Given the description of an element on the screen output the (x, y) to click on. 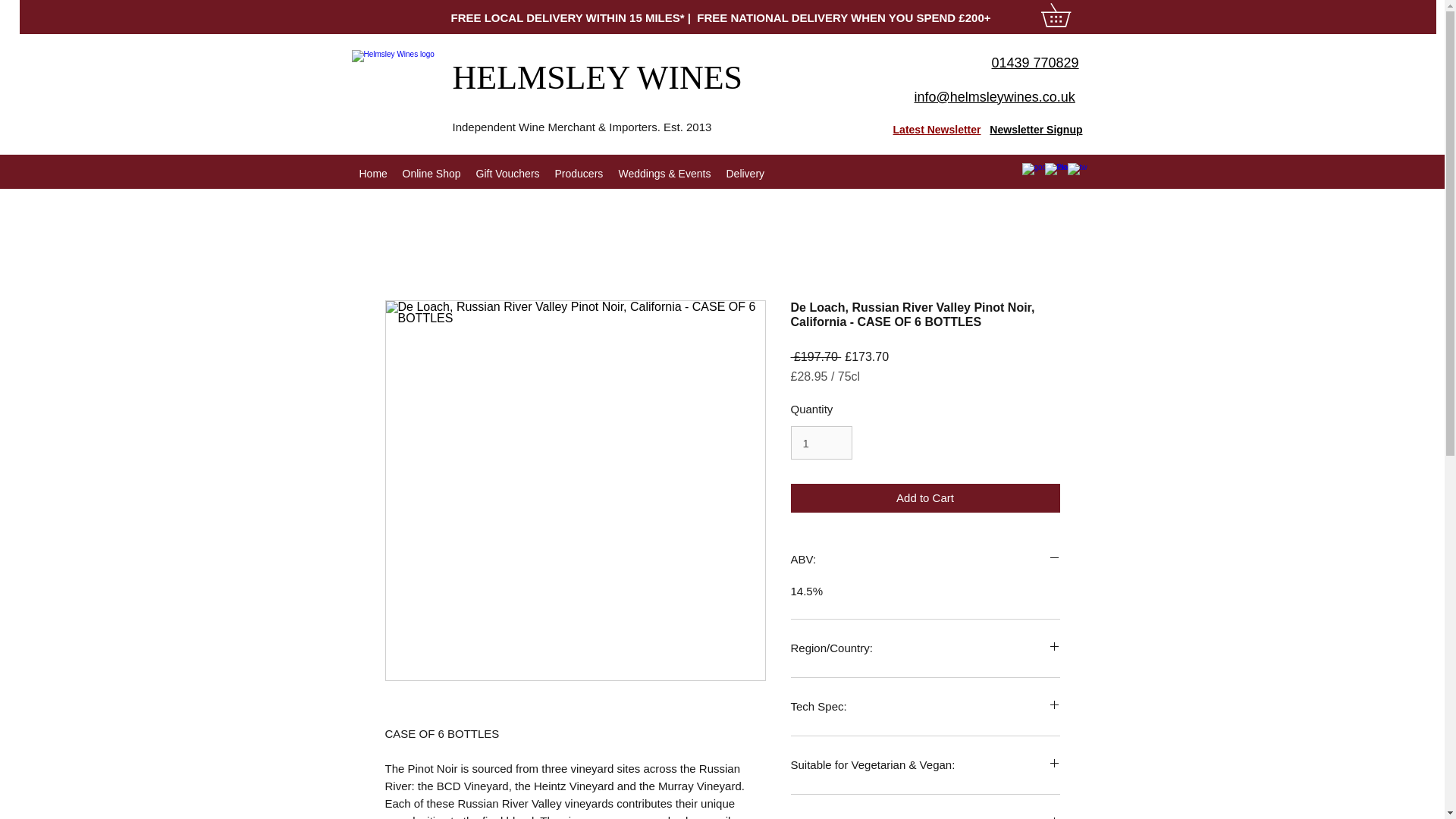
01439 770829 (1034, 62)
Gift Vouchers (507, 173)
Vintage: (924, 816)
Tech Spec: (924, 706)
Newsletter Signup (1035, 129)
ABV: (924, 559)
Delivery (746, 173)
HELMSLEY WINES  (601, 77)
Latest Newsletter (937, 129)
Producers (579, 173)
